Given the description of an element on the screen output the (x, y) to click on. 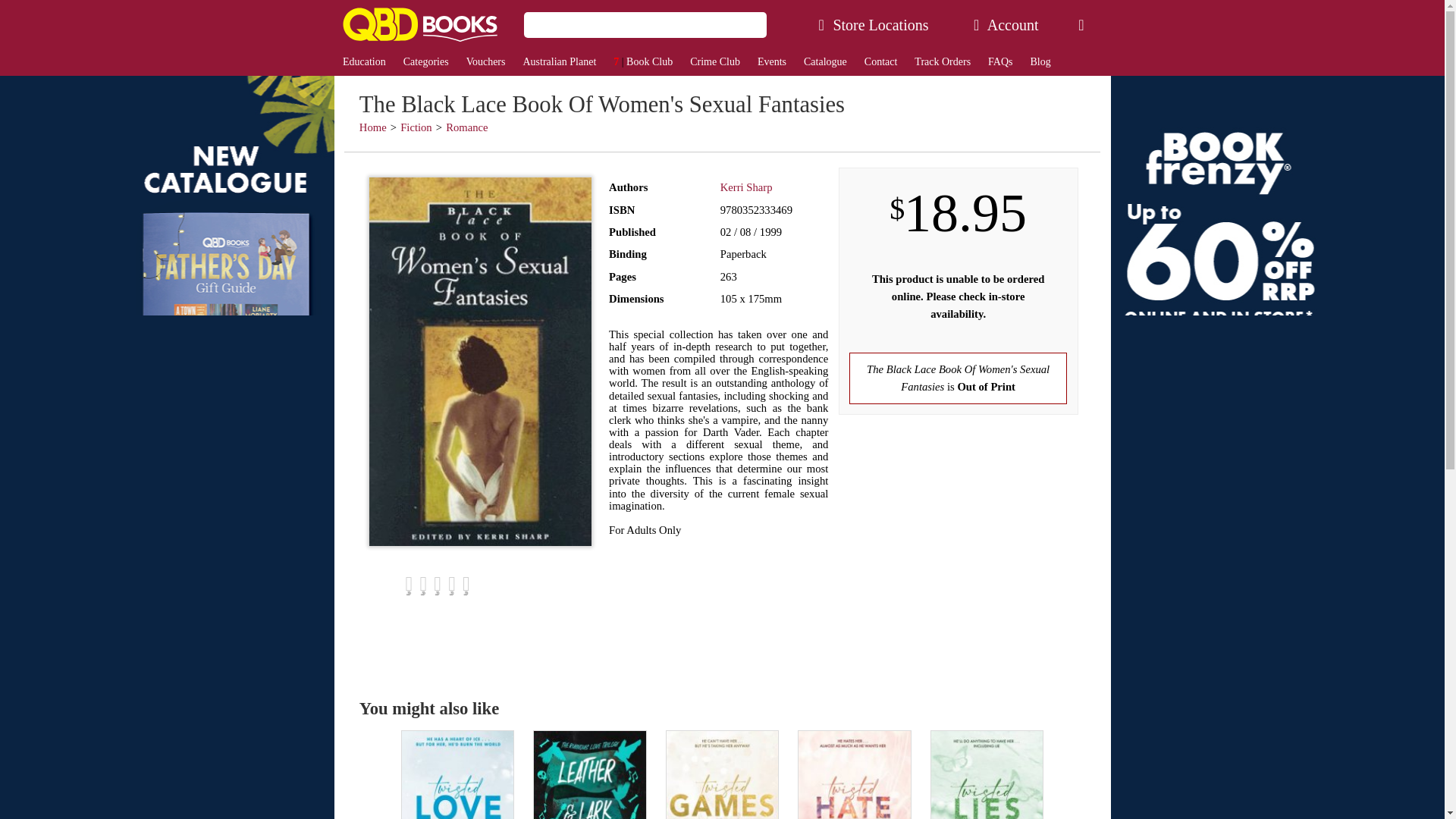
Store Locations (873, 24)
Categories (425, 62)
Education (363, 62)
Account (1006, 24)
QBD Books (418, 23)
